Given the description of an element on the screen output the (x, y) to click on. 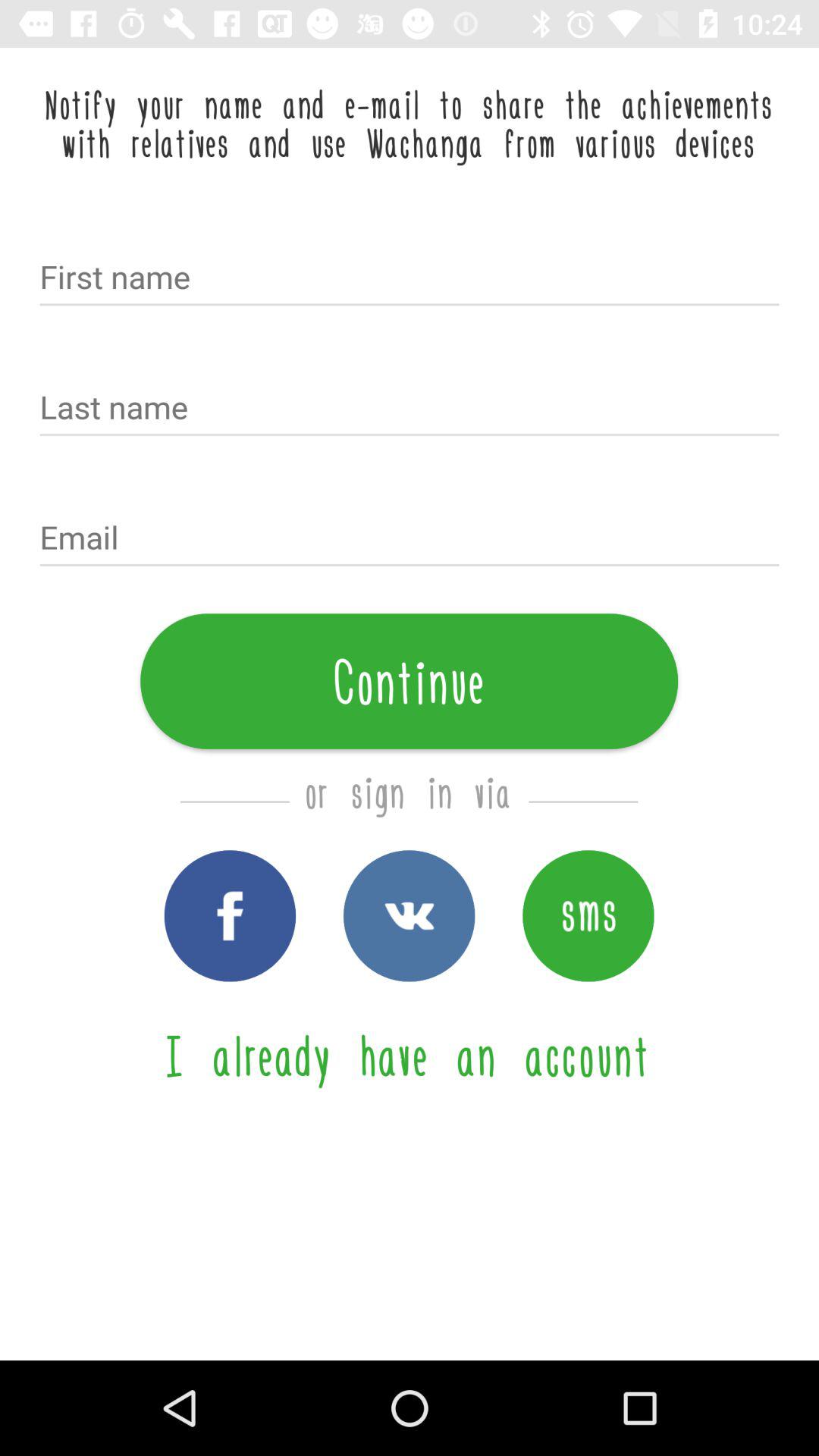
last name textbox (409, 408)
